Given the description of an element on the screen output the (x, y) to click on. 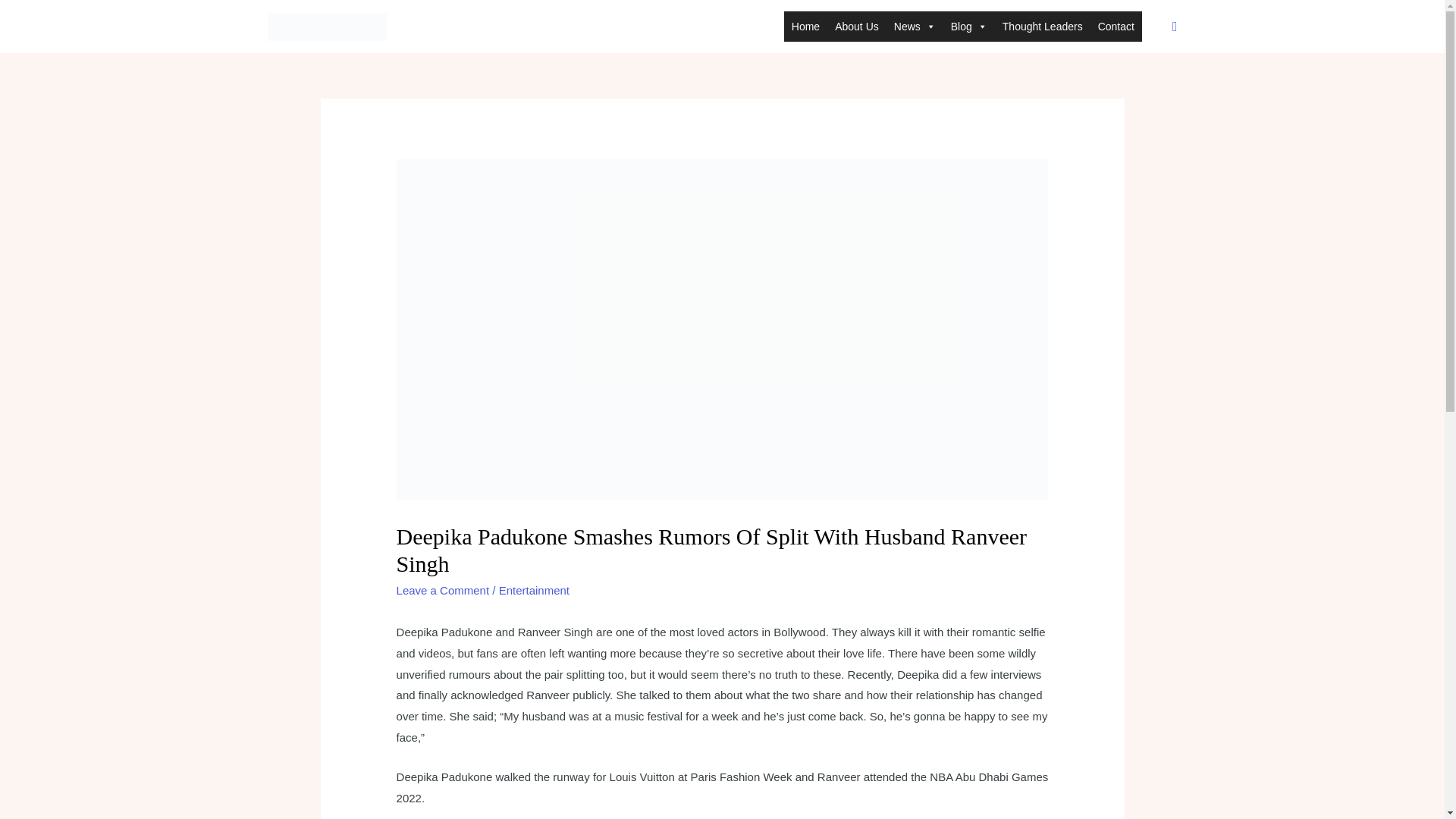
Thought Leaders (1042, 26)
Blog (968, 26)
Leave a Comment (442, 590)
Contact (1115, 26)
News (914, 26)
Entertainment (534, 590)
Home (805, 26)
Search (1174, 26)
About Us (856, 26)
